Given the description of an element on the screen output the (x, y) to click on. 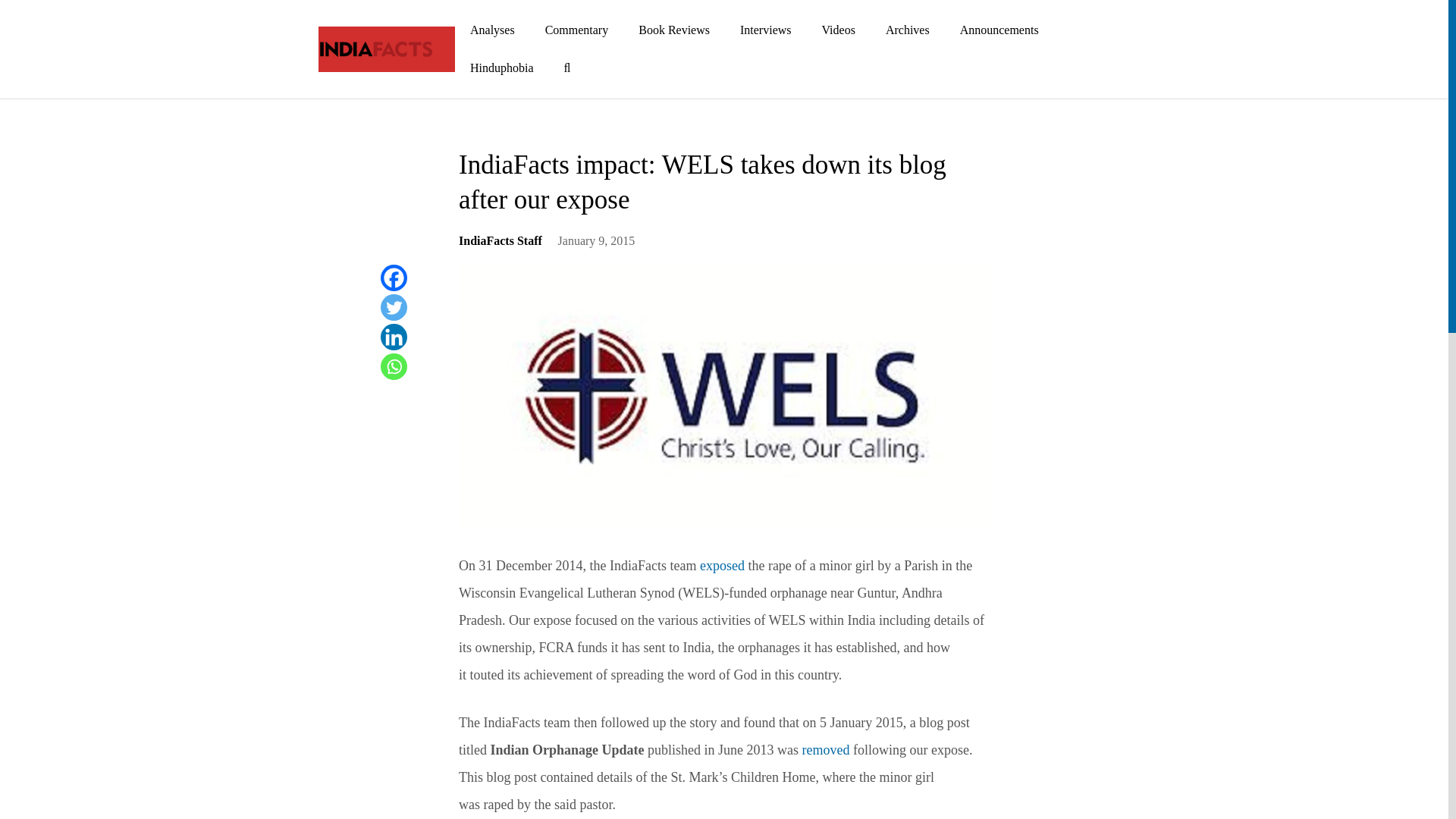
Announcements (999, 30)
Archives (907, 30)
Indiafacts (375, 49)
Whatsapp (393, 366)
Book Reviews (674, 30)
Videos (838, 30)
Facebook (393, 277)
Twitter (393, 307)
Hinduphobia (501, 67)
Linkedin (393, 336)
Commentary (576, 30)
Analyses (491, 30)
IndiaFacts Staff (499, 246)
Interviews (765, 30)
